Given the description of an element on the screen output the (x, y) to click on. 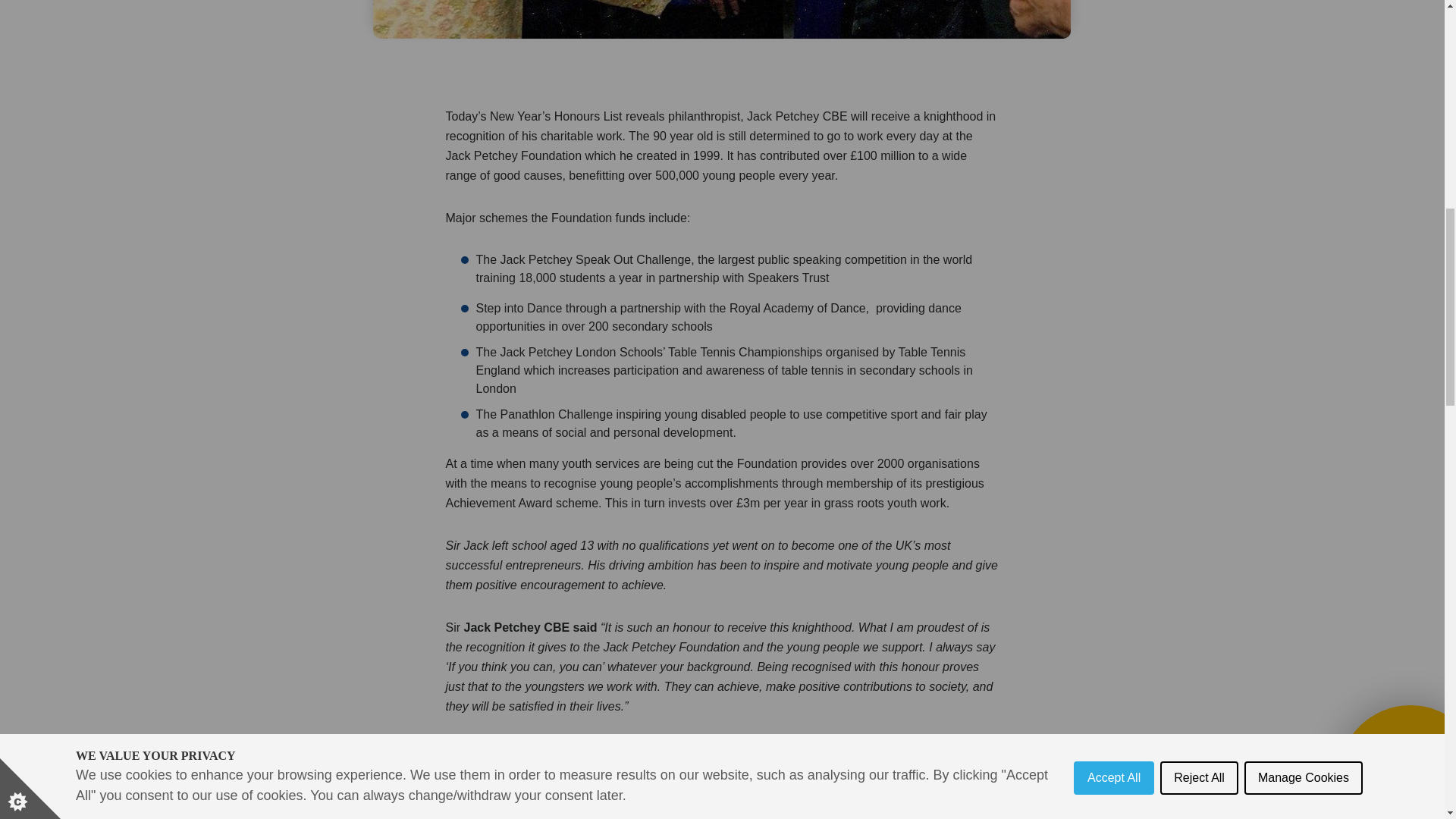
Accept All (1114, 24)
Manage Cookies (1303, 9)
Reject All (1199, 17)
